Given the description of an element on the screen output the (x, y) to click on. 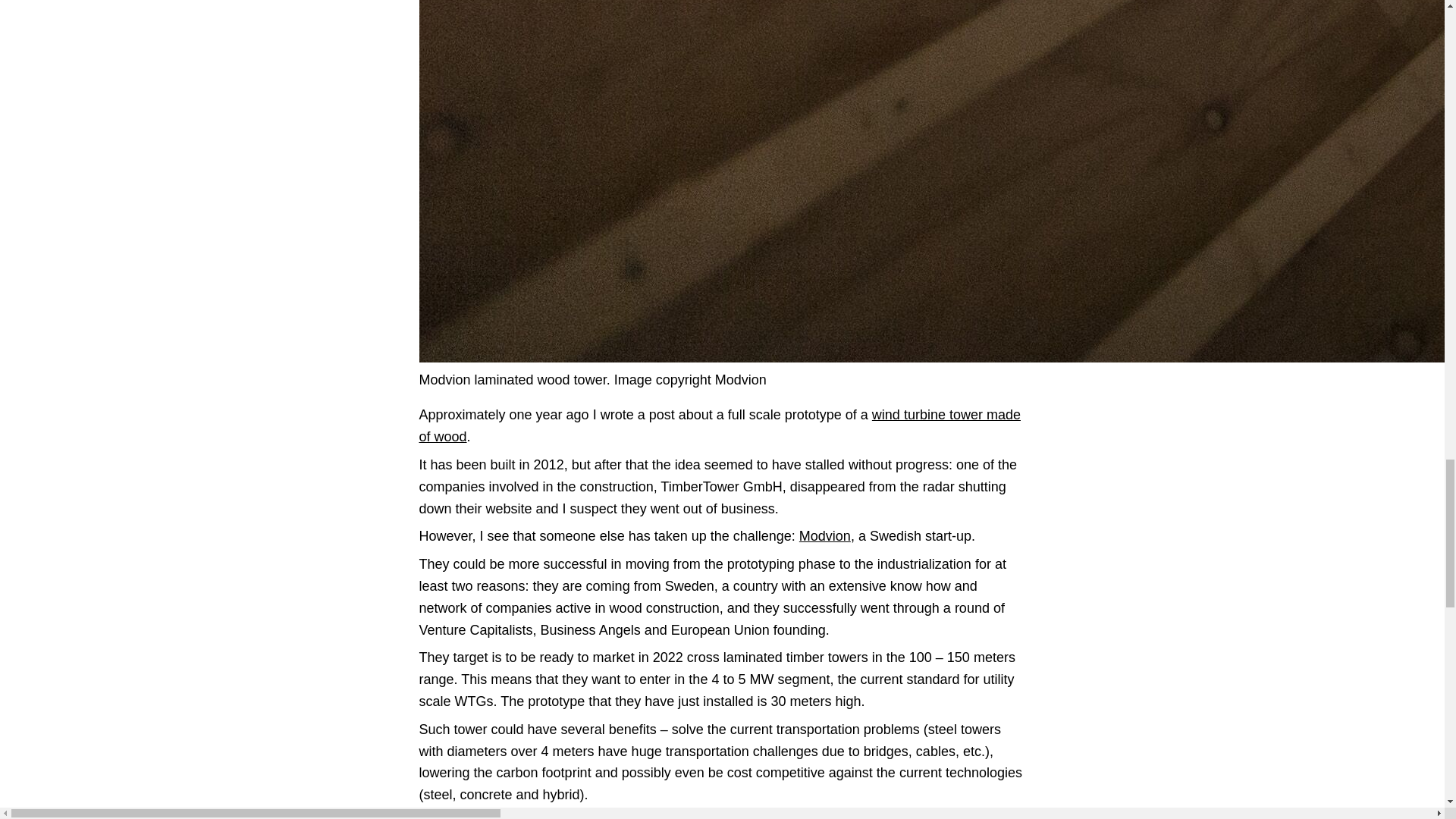
wind turbine tower made of wood (719, 425)
Modvion (824, 535)
